Given the description of an element on the screen output the (x, y) to click on. 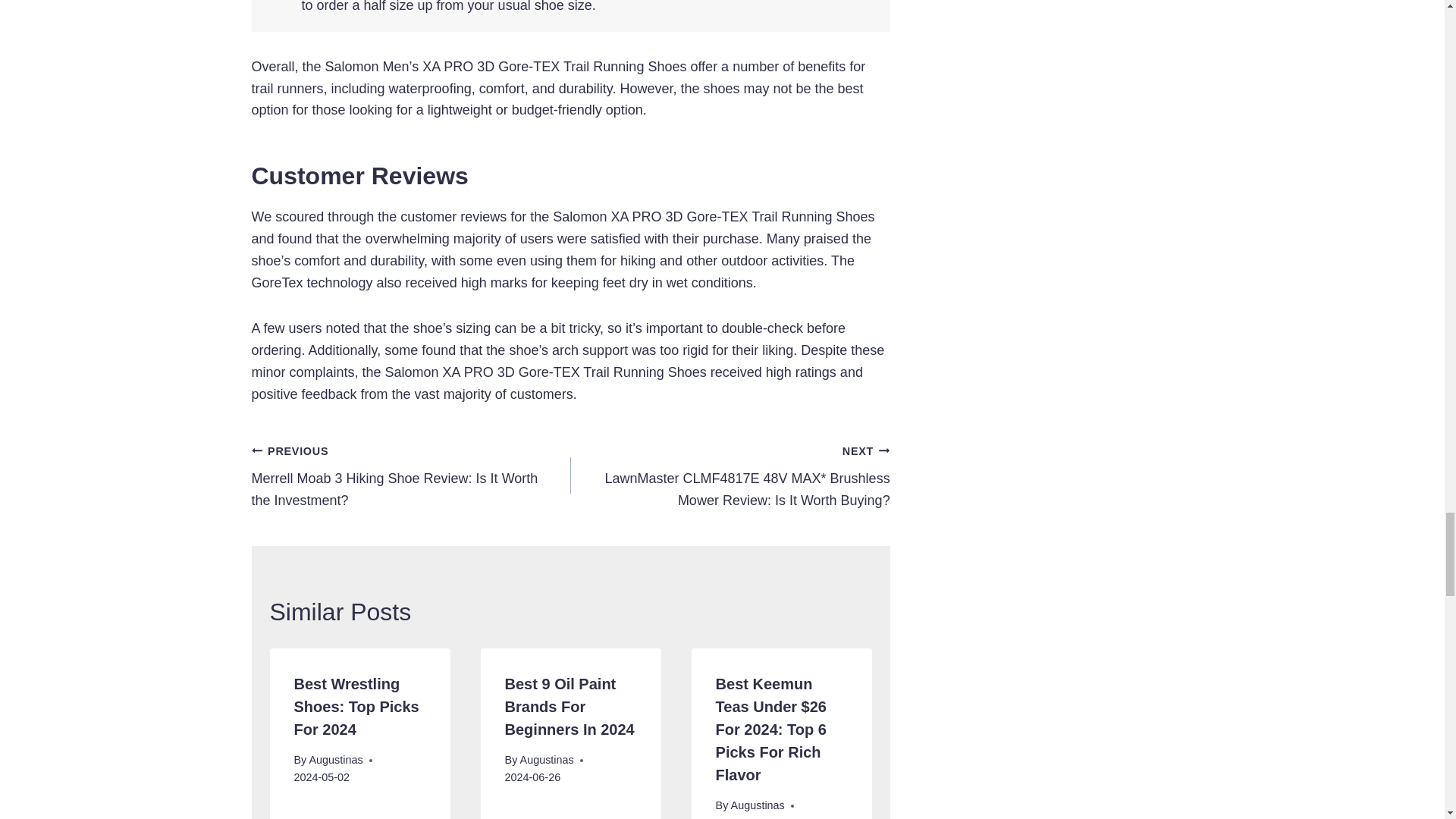
Augustinas (335, 759)
Augustinas (757, 805)
Best Wrestling Shoes: Top Picks For 2024 (356, 706)
Augustinas (546, 759)
Best 9 Oil Paint Brands For Beginners In 2024 (569, 706)
